Given the description of an element on the screen output the (x, y) to click on. 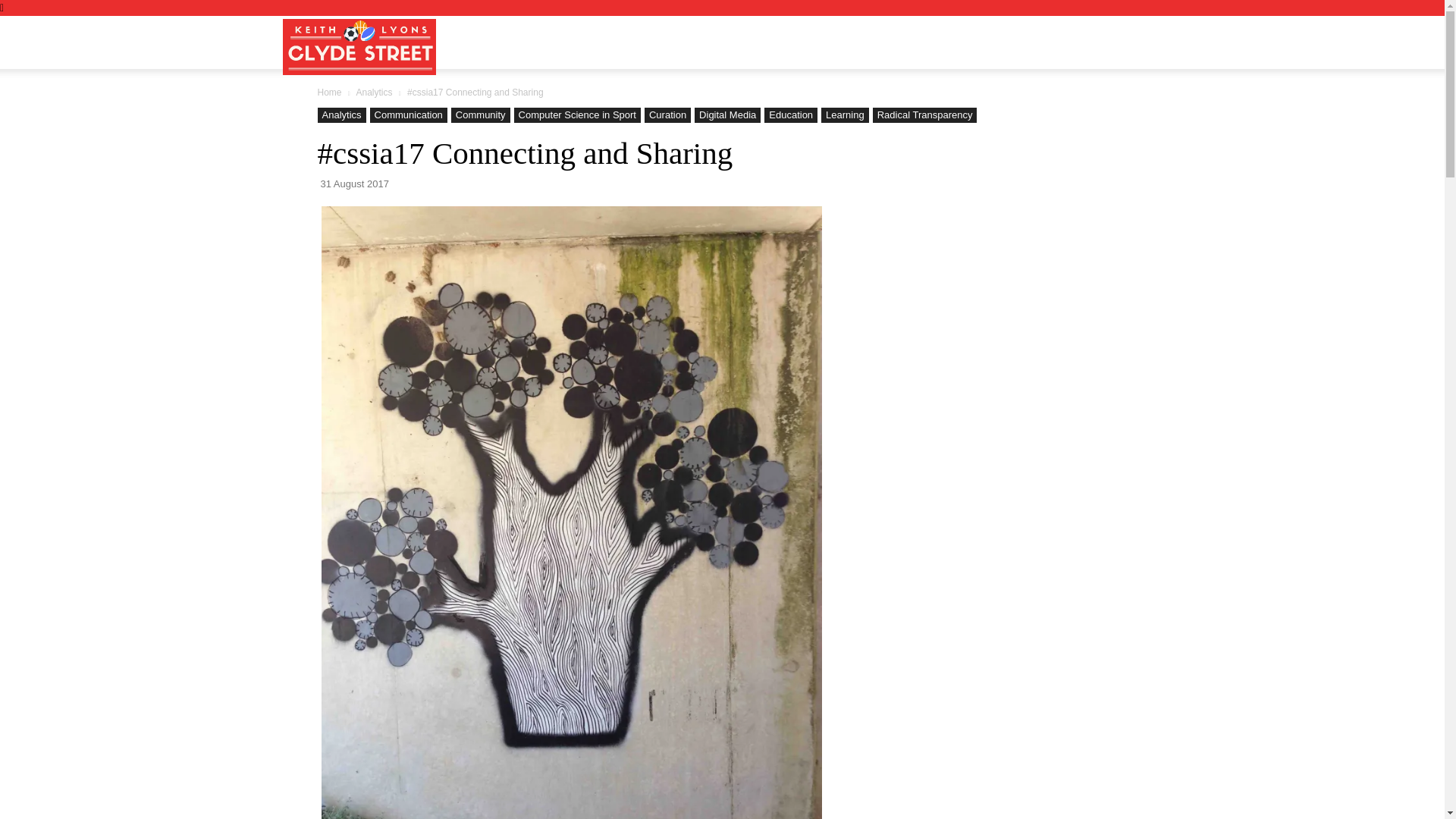
ANALYSIS BY SPORT (744, 41)
BLOG (567, 41)
Analytics (341, 114)
Education (790, 114)
View all posts in Analytics (373, 91)
Curation (667, 114)
Radical Transparency (924, 114)
ANALYSIS ARCHIVES (890, 41)
Analytics (373, 91)
Clyde Street (358, 46)
Community (481, 114)
Computer Science in Sport (576, 114)
Learning (845, 114)
Digital Media (727, 114)
